Given the description of an element on the screen output the (x, y) to click on. 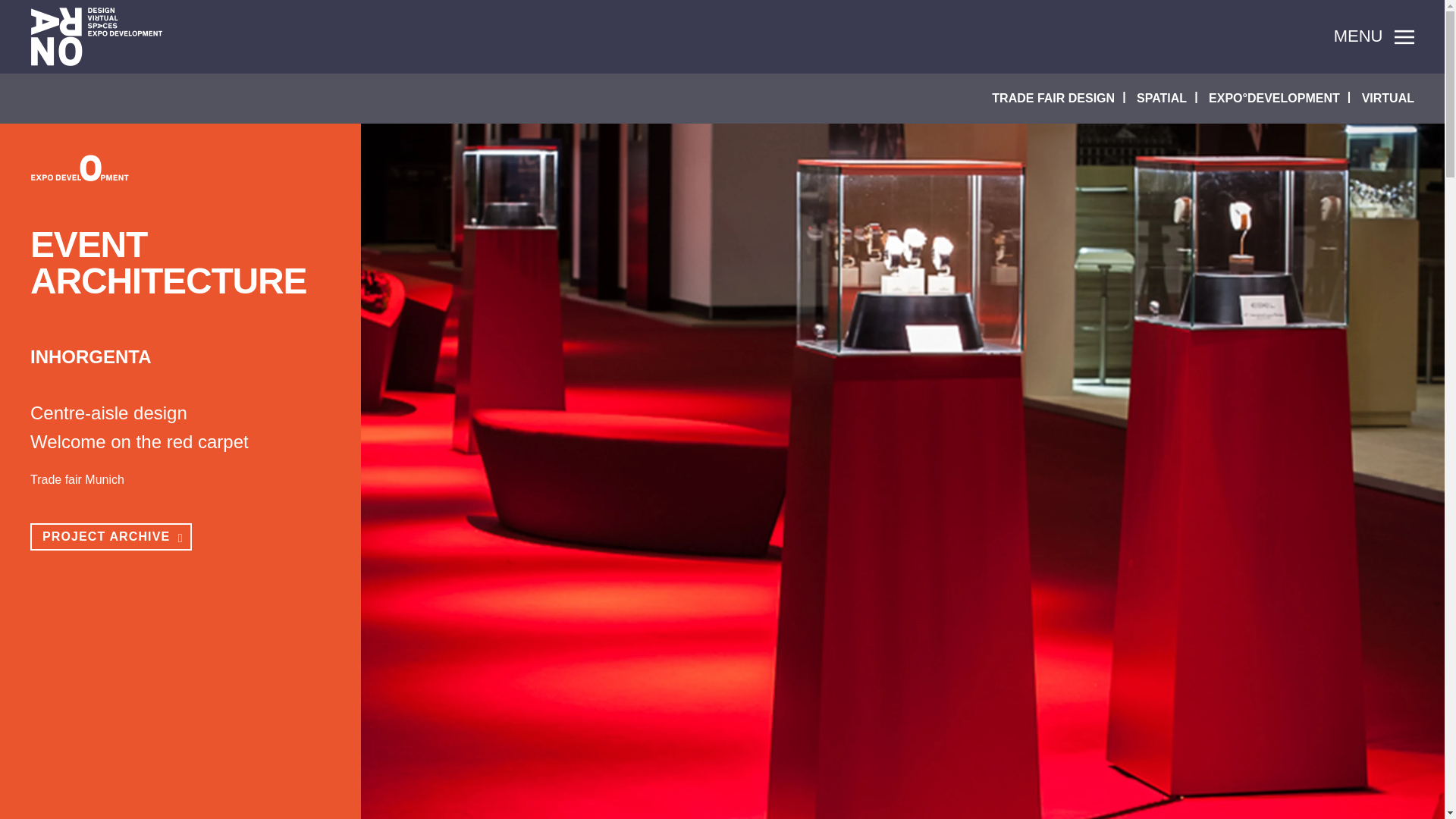
TRADE FAIR DESIGN (1053, 98)
ARNO (96, 36)
Expo development (79, 166)
SPATIAL (1161, 98)
